Given the description of an element on the screen output the (x, y) to click on. 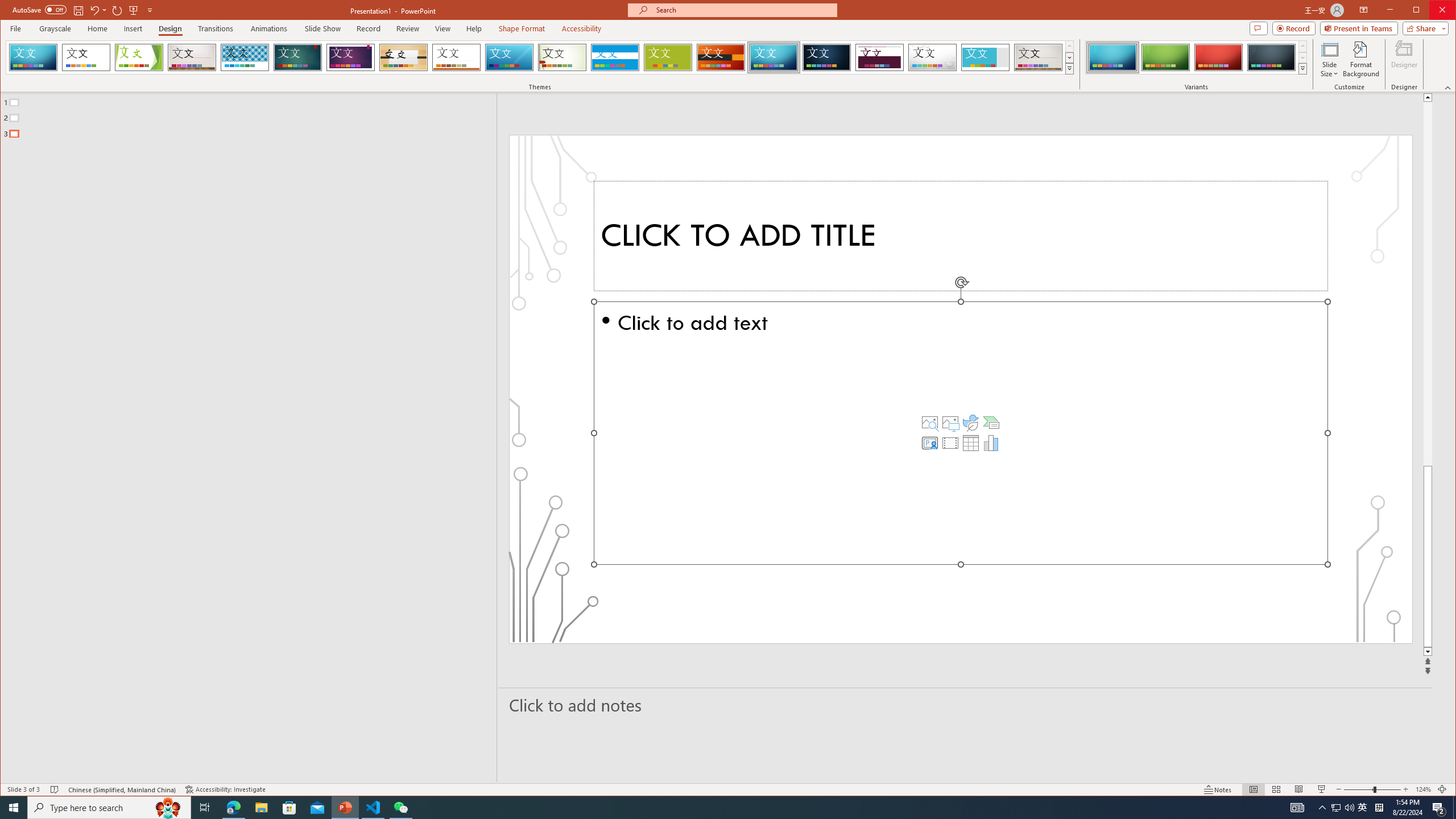
Show desktop (1454, 807)
Task View (204, 807)
Animations (269, 28)
Share (1422, 27)
Normal (1253, 789)
Design (170, 28)
Zoom 124% (1422, 789)
File Tab (15, 27)
Record (1294, 28)
AutoSave (38, 9)
AutomationID: SlideThemesGallery (540, 57)
Insert (133, 28)
Circuit Variant 2 (1165, 57)
Grayscale (55, 28)
Integral (244, 57)
